Given the description of an element on the screen output the (x, y) to click on. 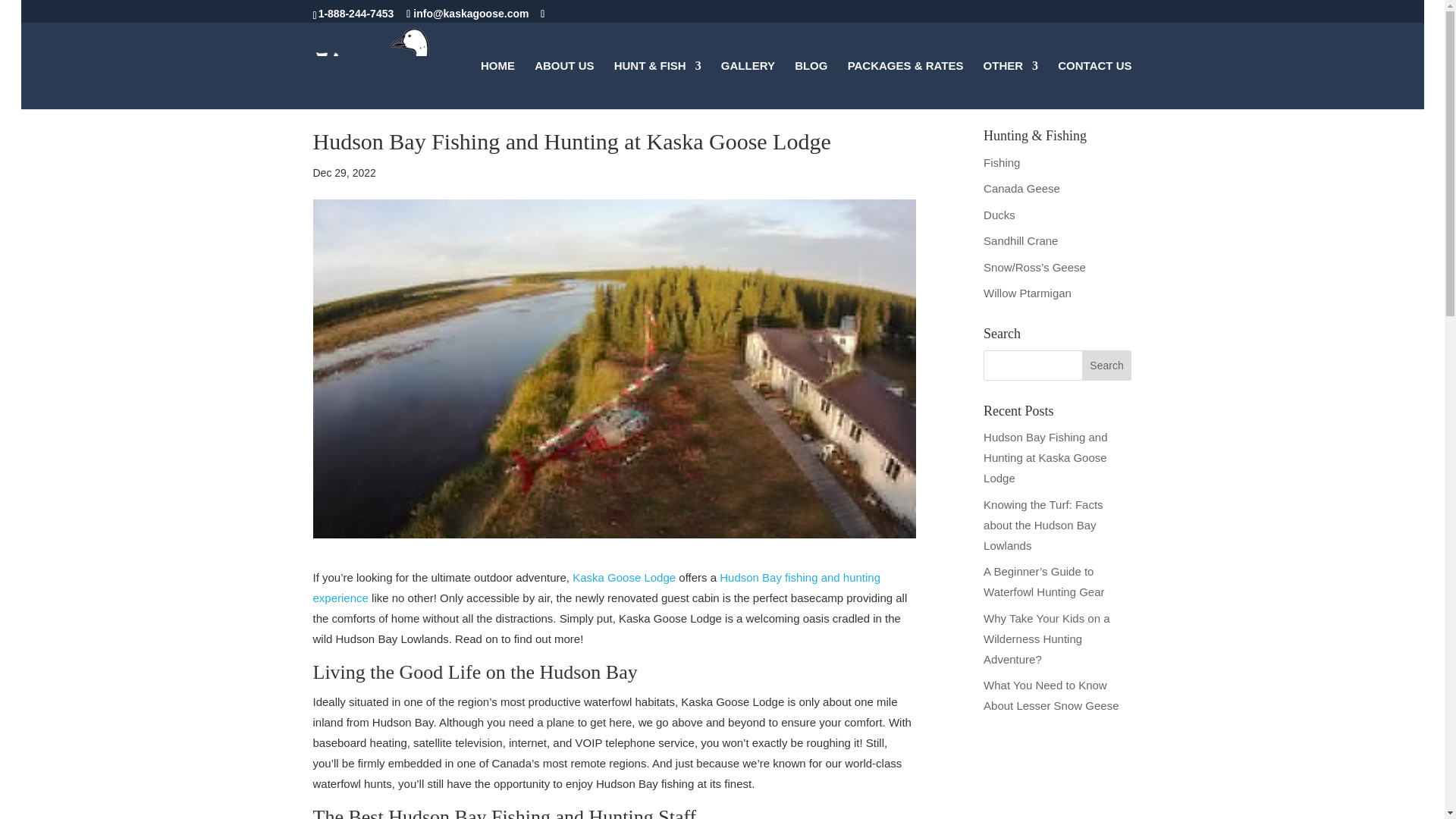
CONTACT US (1094, 84)
Search (1106, 365)
GALLERY (747, 84)
Canada Geese (1021, 187)
OTHER (1011, 84)
Fishing (1002, 162)
Kaska Goose Lodge (623, 576)
Hudson Bay fishing and hunting experience (596, 587)
ABOUT US (564, 84)
